Given the description of an element on the screen output the (x, y) to click on. 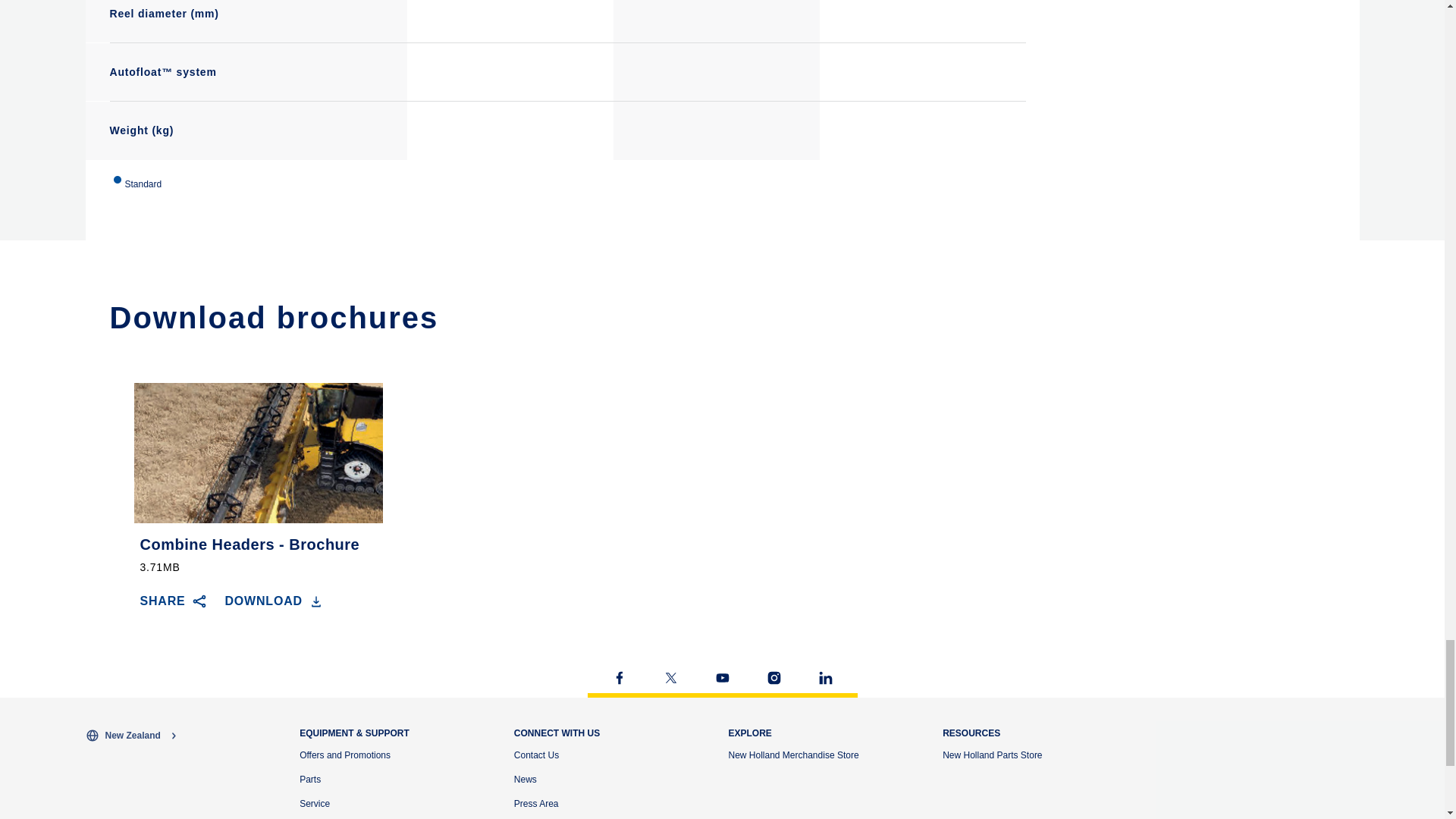
News (525, 778)
EXPLORE (749, 733)
Linkedin (824, 677)
Offers and Promotions (344, 755)
DOWNLOAD (274, 600)
Press Area (536, 803)
News (525, 778)
New Holland Parts Store (992, 755)
CONNECT WITH US (556, 733)
Parts (309, 778)
